Given the description of an element on the screen output the (x, y) to click on. 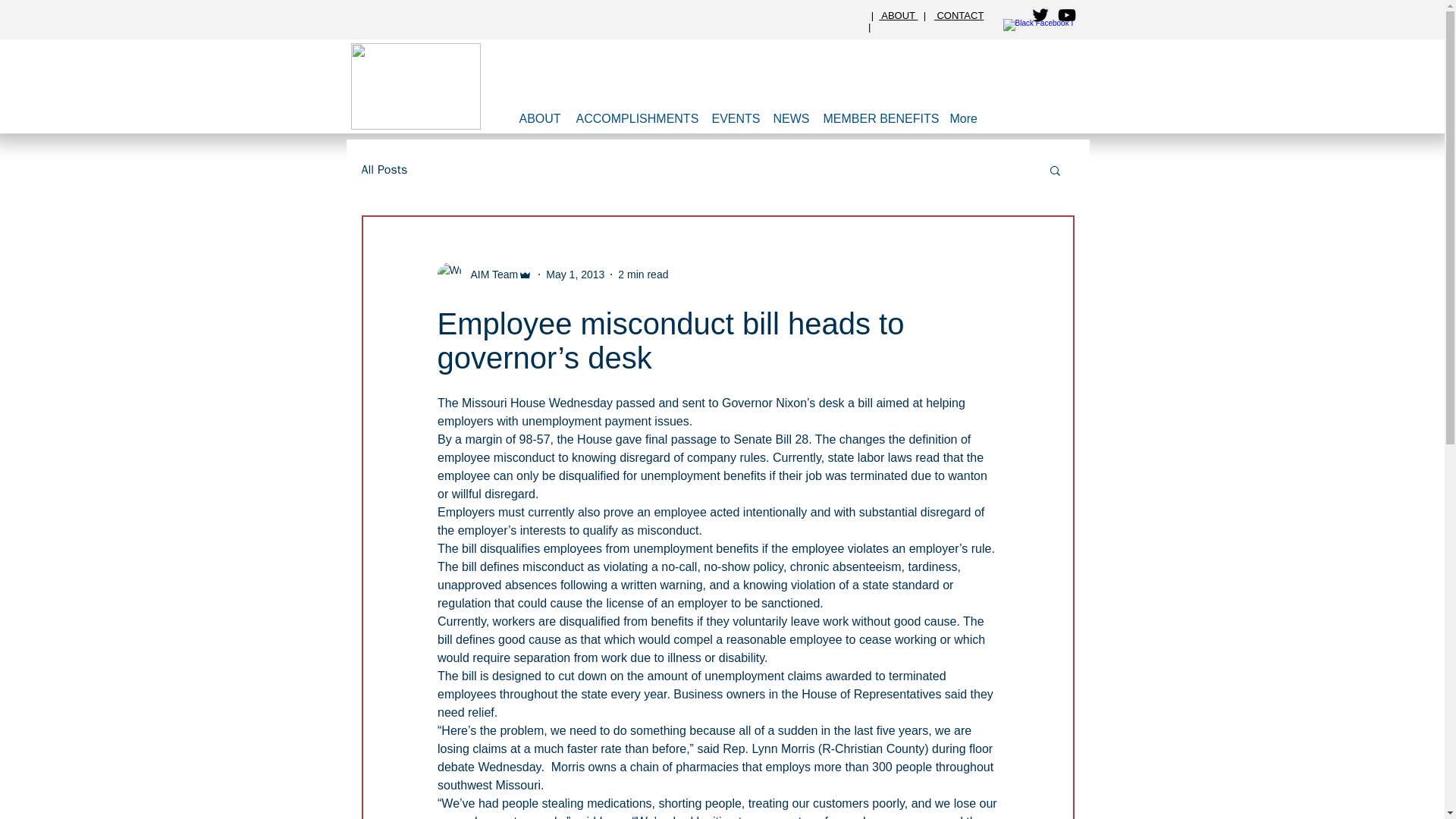
ABOUT (898, 15)
May 1, 2013 (575, 274)
EVENTS (734, 118)
2 min read (642, 274)
ACCOMPLISHMENTS (636, 118)
 CONTACT (959, 15)
AIM Team (489, 274)
ABOUT (539, 118)
NEWS (790, 118)
All Posts (384, 170)
